Given the description of an element on the screen output the (x, y) to click on. 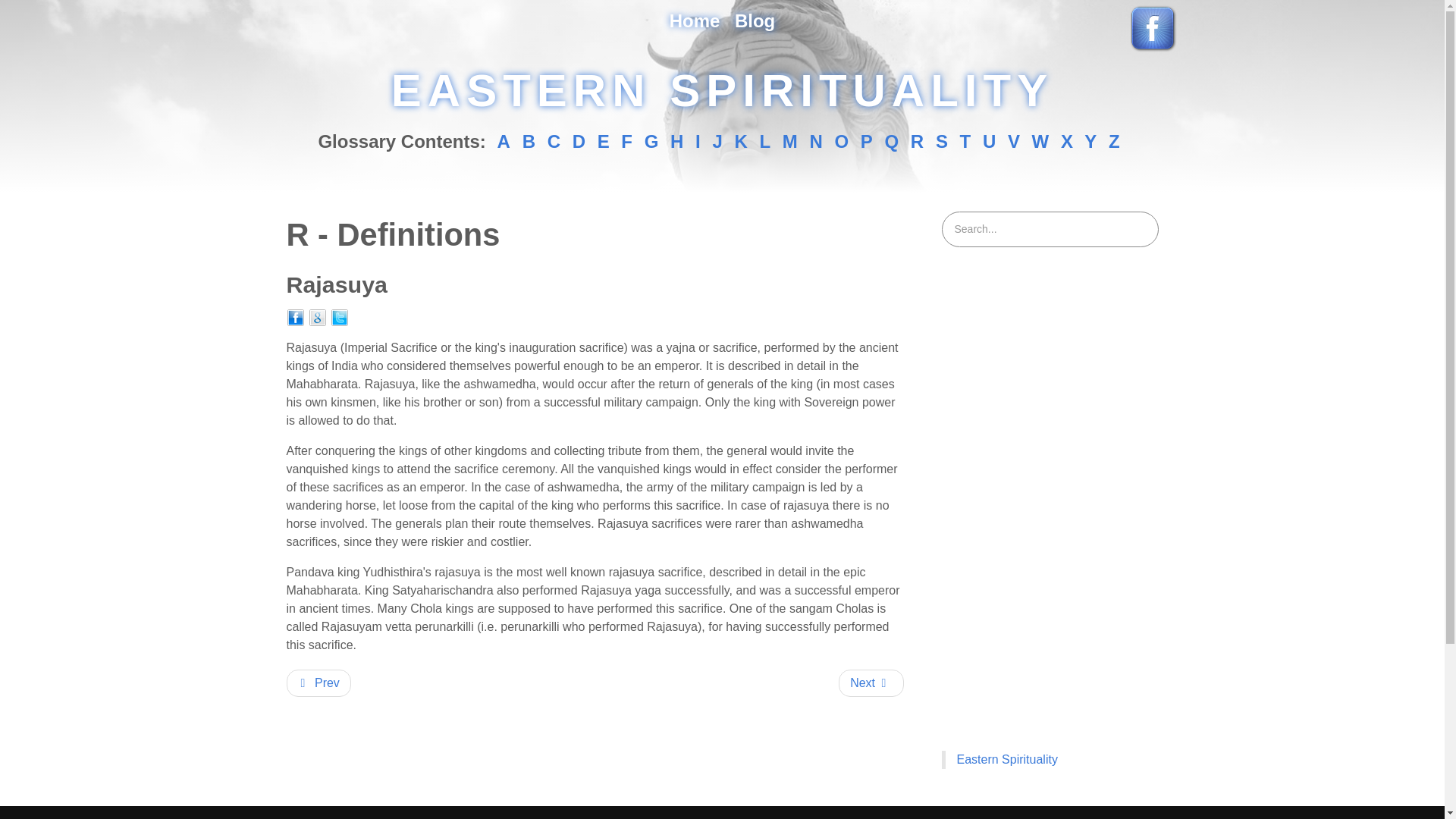
Submit to Twitter (339, 317)
Submit to Facebook (295, 317)
Next (870, 682)
Prev (318, 682)
Blog (754, 21)
Submit to Google Plus (316, 317)
Home (694, 21)
Eastern Spirituality (1007, 758)
